Given the description of an element on the screen output the (x, y) to click on. 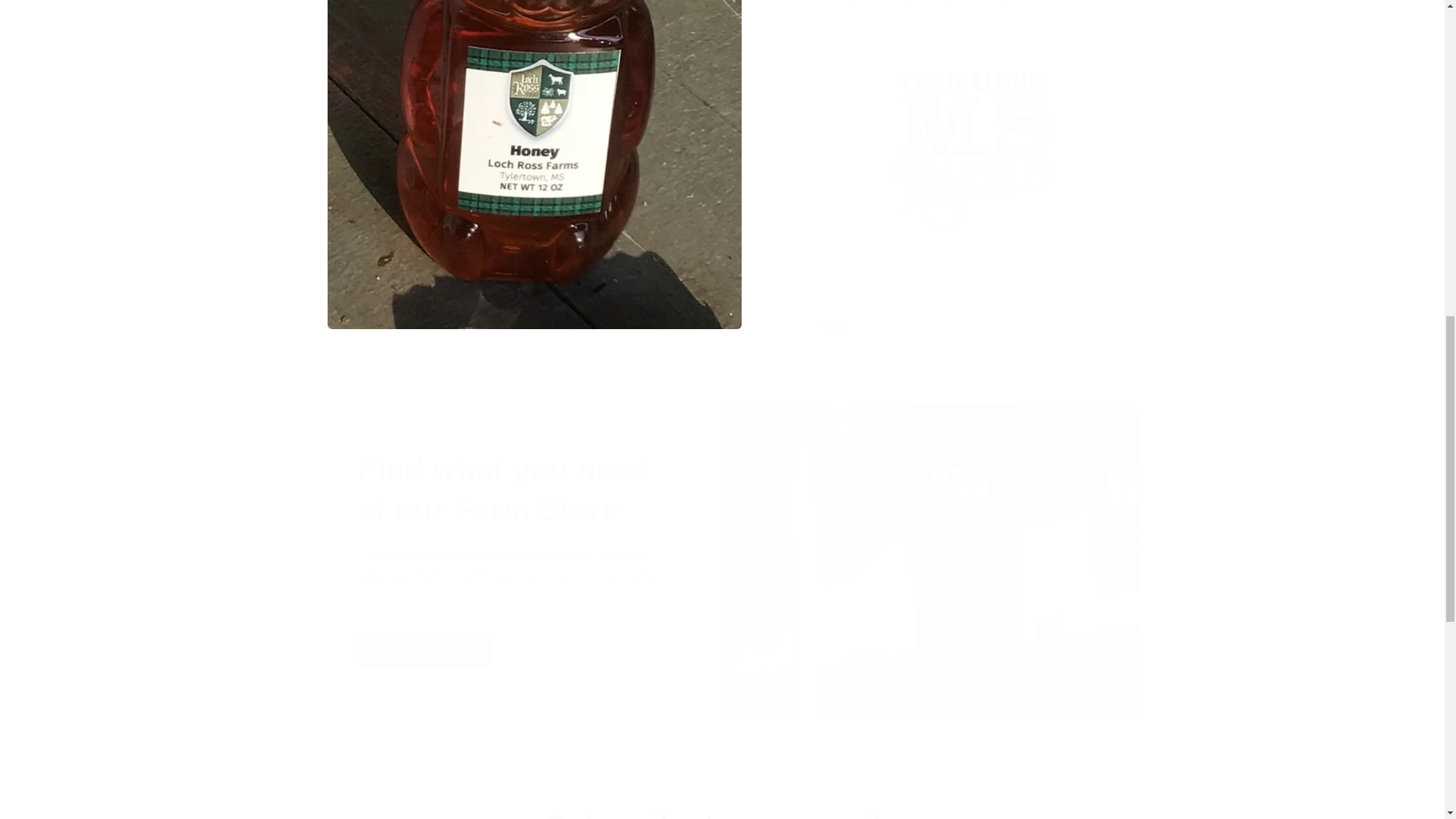
Open media 1 in modal (533, 44)
